Given the description of an element on the screen output the (x, y) to click on. 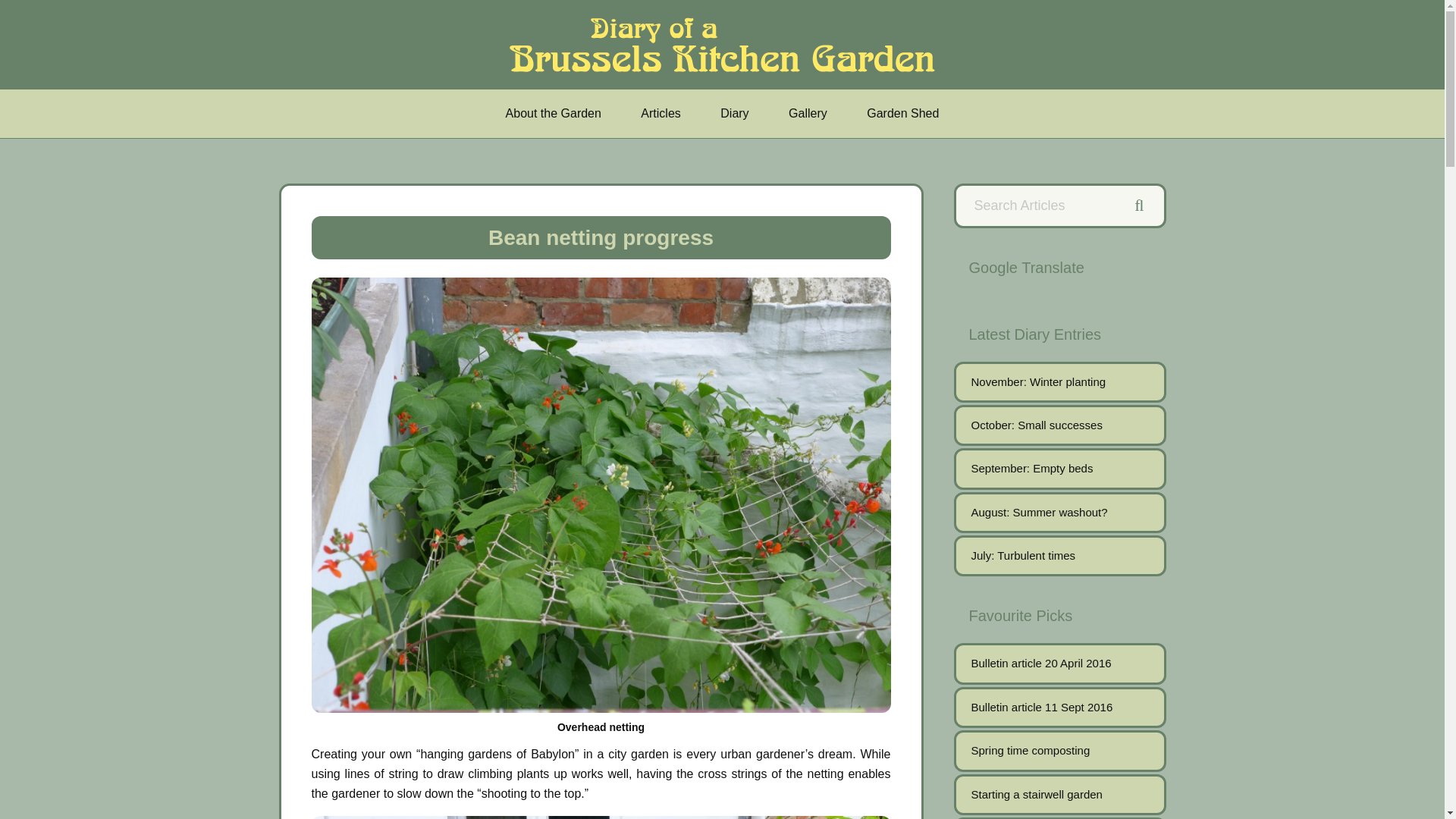
Diary (734, 113)
About the Garden (553, 113)
DIARY OF A BRUSSELS KITCHEN GARDEN (726, 44)
Articles (660, 113)
Gallery (807, 113)
Garden Shed (902, 113)
